Given the description of an element on the screen output the (x, y) to click on. 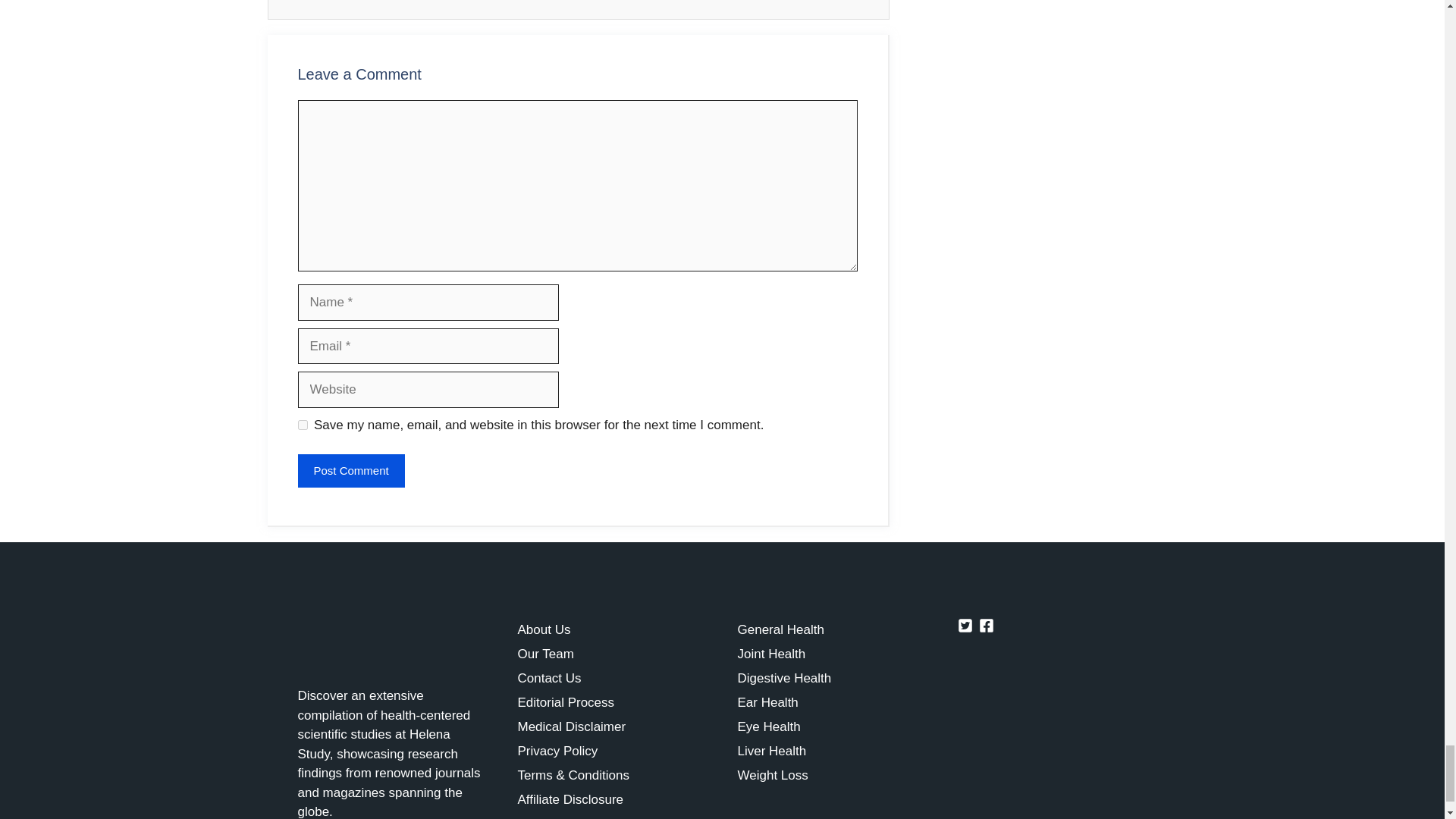
yes (302, 424)
Post Comment (350, 471)
